Given the description of an element on the screen output the (x, y) to click on. 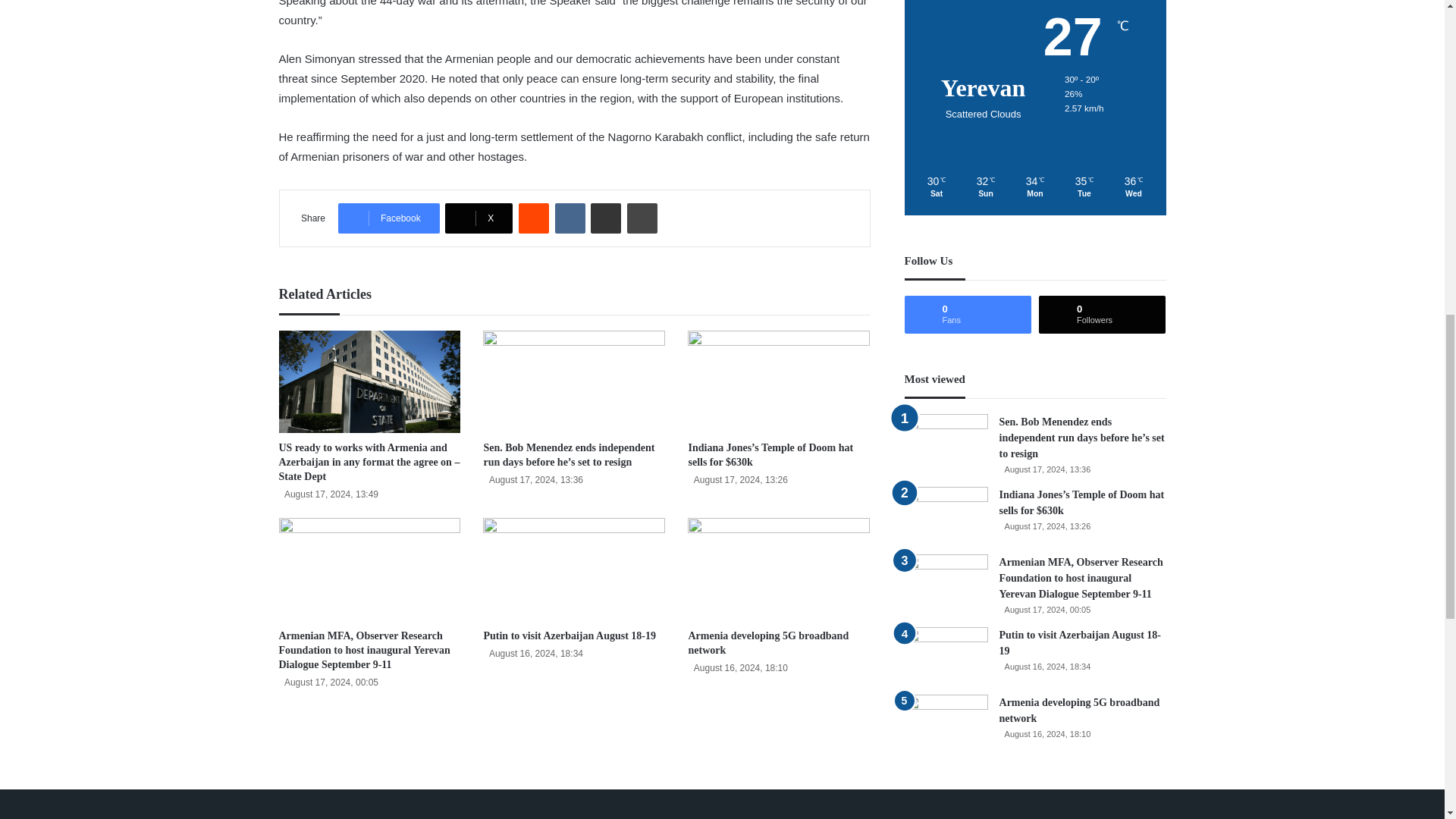
VKontakte (569, 218)
Print (642, 218)
Facebook (388, 218)
Share via Email (606, 218)
X (478, 218)
Reddit (533, 218)
